Given the description of an element on the screen output the (x, y) to click on. 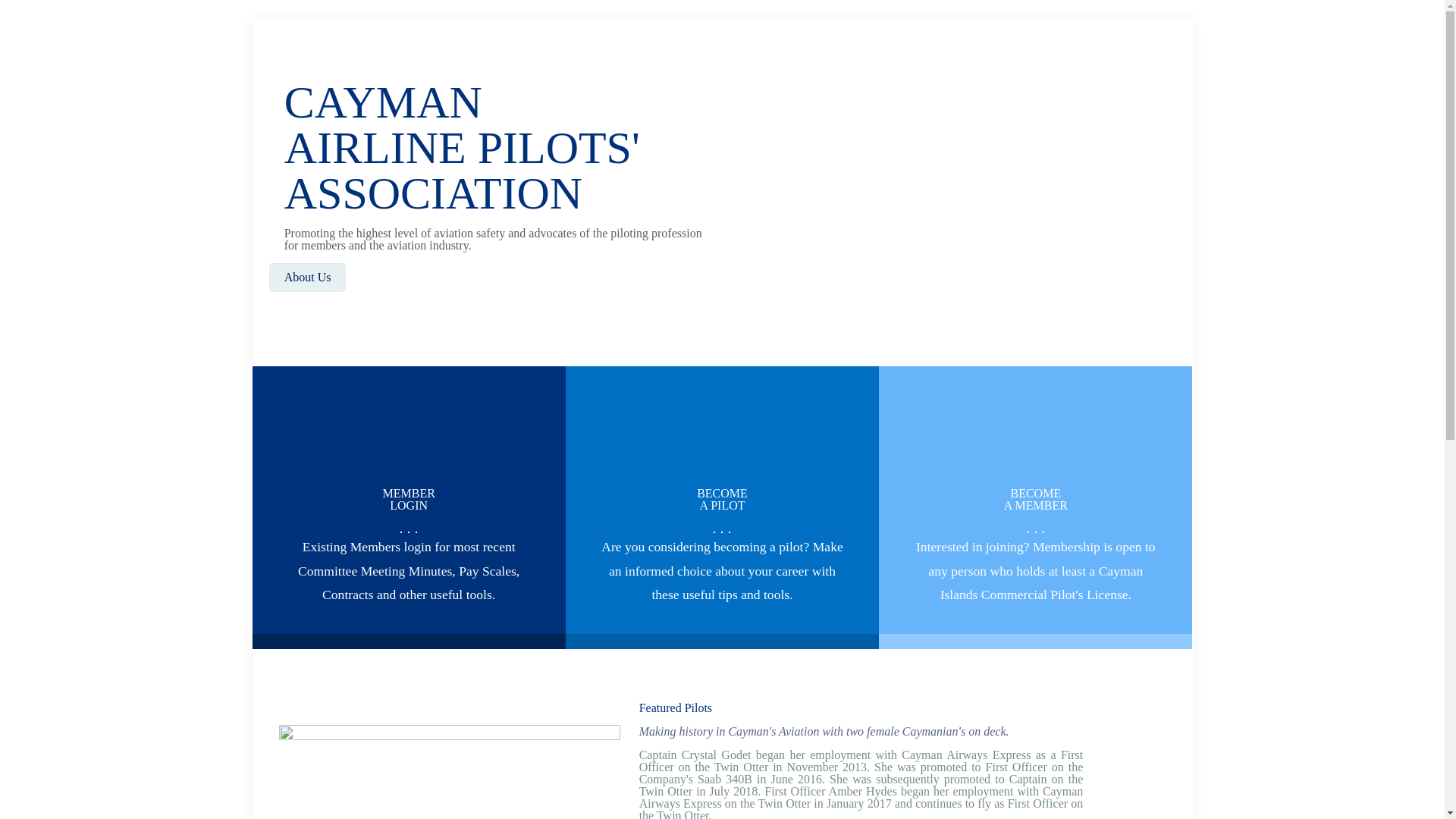
About Us (1035, 498)
